Given the description of an element on the screen output the (x, y) to click on. 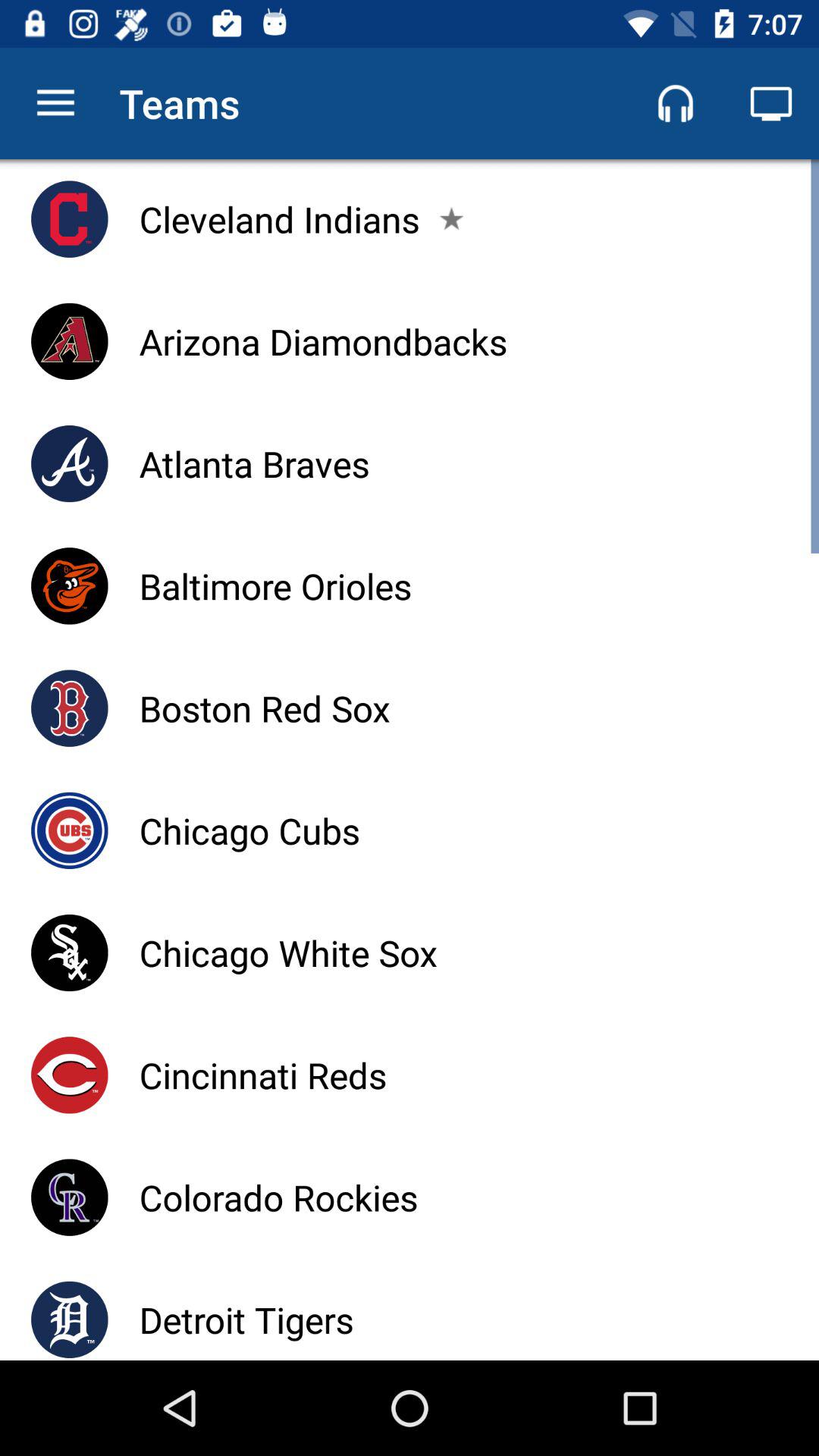
swipe until the detroit tigers item (246, 1319)
